Given the description of an element on the screen output the (x, y) to click on. 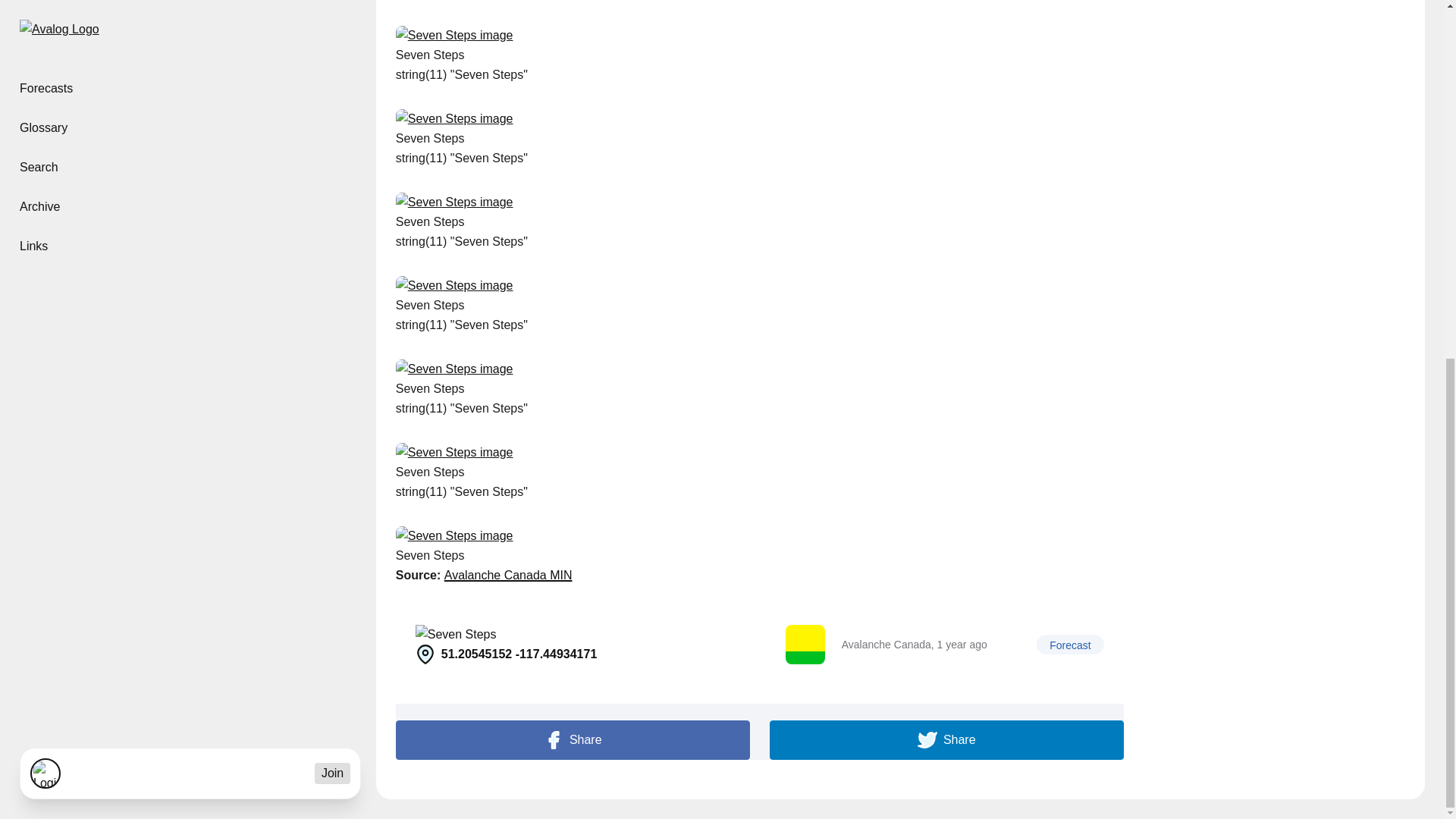
Share on Facebook (572, 740)
Avalanche Canada MIN (508, 575)
Share (947, 740)
51.20545152 -117.44934171 (573, 644)
Seven Steps (573, 634)
Share (572, 740)
Share on Twitter (947, 740)
Register (944, 644)
Join (332, 138)
